Given the description of an element on the screen output the (x, y) to click on. 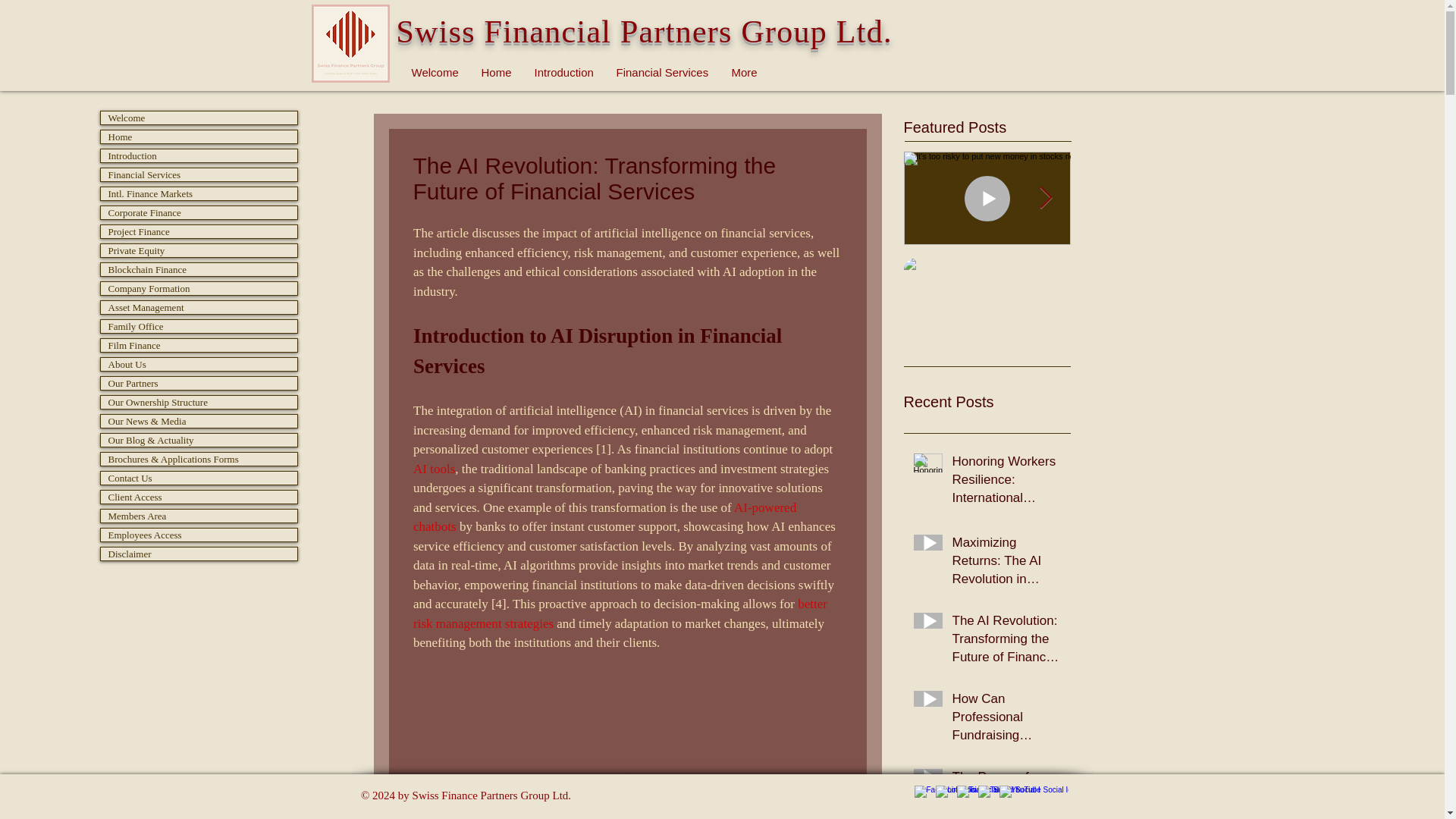
Sep 26, 2020 (1129, 276)
Swiss Financial Partners Group Ltd. (643, 31)
Home (496, 72)
SFP Group (1125, 264)
Welcome (435, 72)
Sep 29, 2020 (963, 276)
SFP Group (958, 264)
Financial Services (662, 72)
Introduction (563, 72)
